Given the description of an element on the screen output the (x, y) to click on. 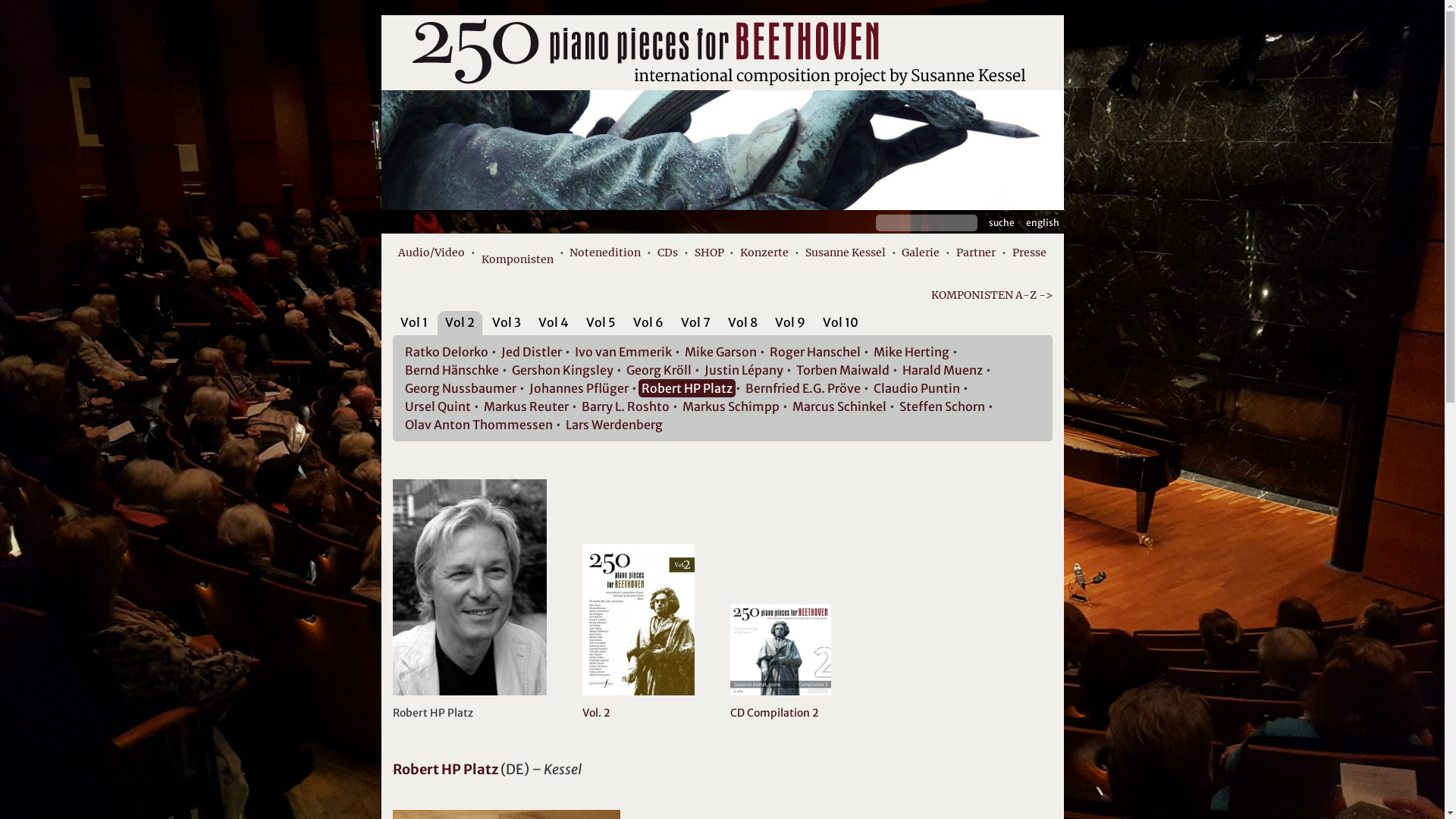
Skip to content Element type: text (380, 15)
Vol 3 Element type: text (505, 321)
Steffen Schorn Element type: text (942, 406)
Vol. 2 Element type: text (638, 704)
Vol 9 Element type: text (790, 321)
Roger Hanschel Element type: text (813, 351)
Markus Reuter Element type: text (525, 406)
Presse Element type: text (1029, 252)
CD Compilation 2 Element type: text (780, 704)
Vol 6 Element type: text (647, 321)
Vol 7 Element type: text (695, 321)
Georg Nussbaumer Element type: text (460, 387)
Torben Maiwald Element type: text (842, 369)
Mike Garson Element type: text (720, 351)
Marcus Schinkel Element type: text (838, 406)
Susanne Kessel Element type: text (845, 252)
Ivo van Emmerik Element type: text (622, 351)
Barry L. Roshto Element type: text (624, 406)
Gershon Kingsley Element type: text (561, 369)
Robert HP Platz Element type: text (686, 387)
CDs Element type: text (667, 252)
Vol 8 Element type: text (742, 321)
Audio/Video Element type: text (431, 252)
Claudio Puntin Element type: text (916, 387)
Vol 5 Element type: text (600, 321)
SHOP Element type: text (709, 252)
Suche Element type: text (1001, 222)
Vol 4 Element type: text (553, 321)
Jed Distler Element type: text (530, 351)
Olav Anton Thommessen Element type: text (478, 424)
Galerie Element type: text (920, 252)
Vol 2 Element type: text (458, 321)
Vol 10 Element type: text (839, 321)
KOMPONISTEN A-Z -> Element type: text (722, 295)
Harald Muenz Element type: text (942, 369)
english Element type: text (1041, 222)
Vol 1 Element type: text (413, 321)
Mike Herting Element type: text (911, 351)
Lars Werdenberg Element type: text (613, 424)
Partner Element type: text (975, 252)
Komponisten Element type: text (517, 255)
Notenedition Element type: text (604, 252)
Markus Schimpp Element type: text (730, 406)
Ursel Quint Element type: text (437, 406)
Konzerte Element type: text (764, 252)
Ratko Delorko Element type: text (446, 351)
